Given the description of an element on the screen output the (x, y) to click on. 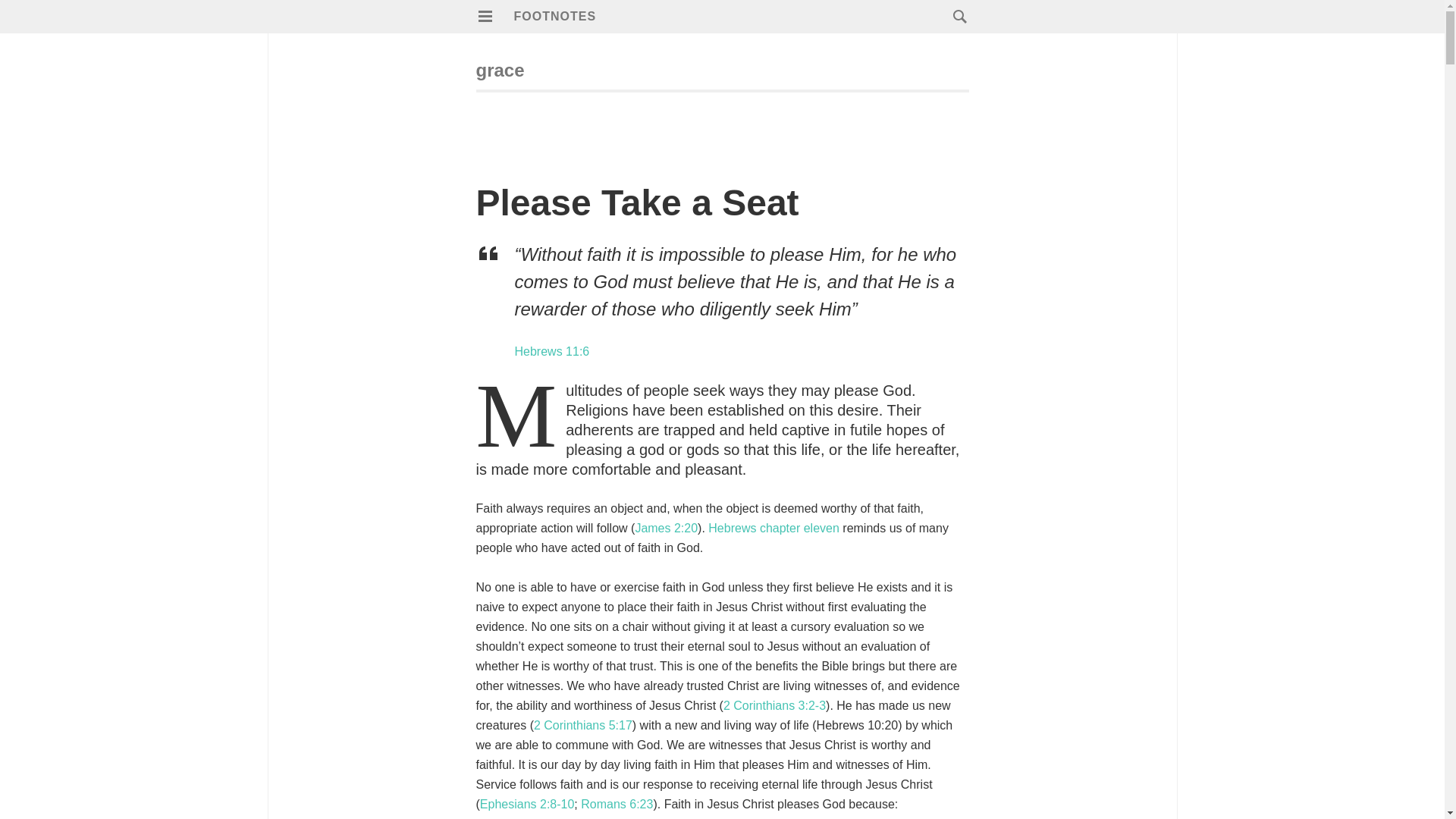
Search (42, 19)
James 2:20 (665, 527)
Hebrews 11:6 (551, 350)
FOOTNOTES (554, 15)
Please Take a Seat (637, 202)
2 Corinthians 5:17 (582, 725)
2 Corinthians 3:2-3 (774, 705)
Search for: (956, 16)
Ephesians 2:8-10 (527, 803)
Romans 6:23 (616, 803)
